Given the description of an element on the screen output the (x, y) to click on. 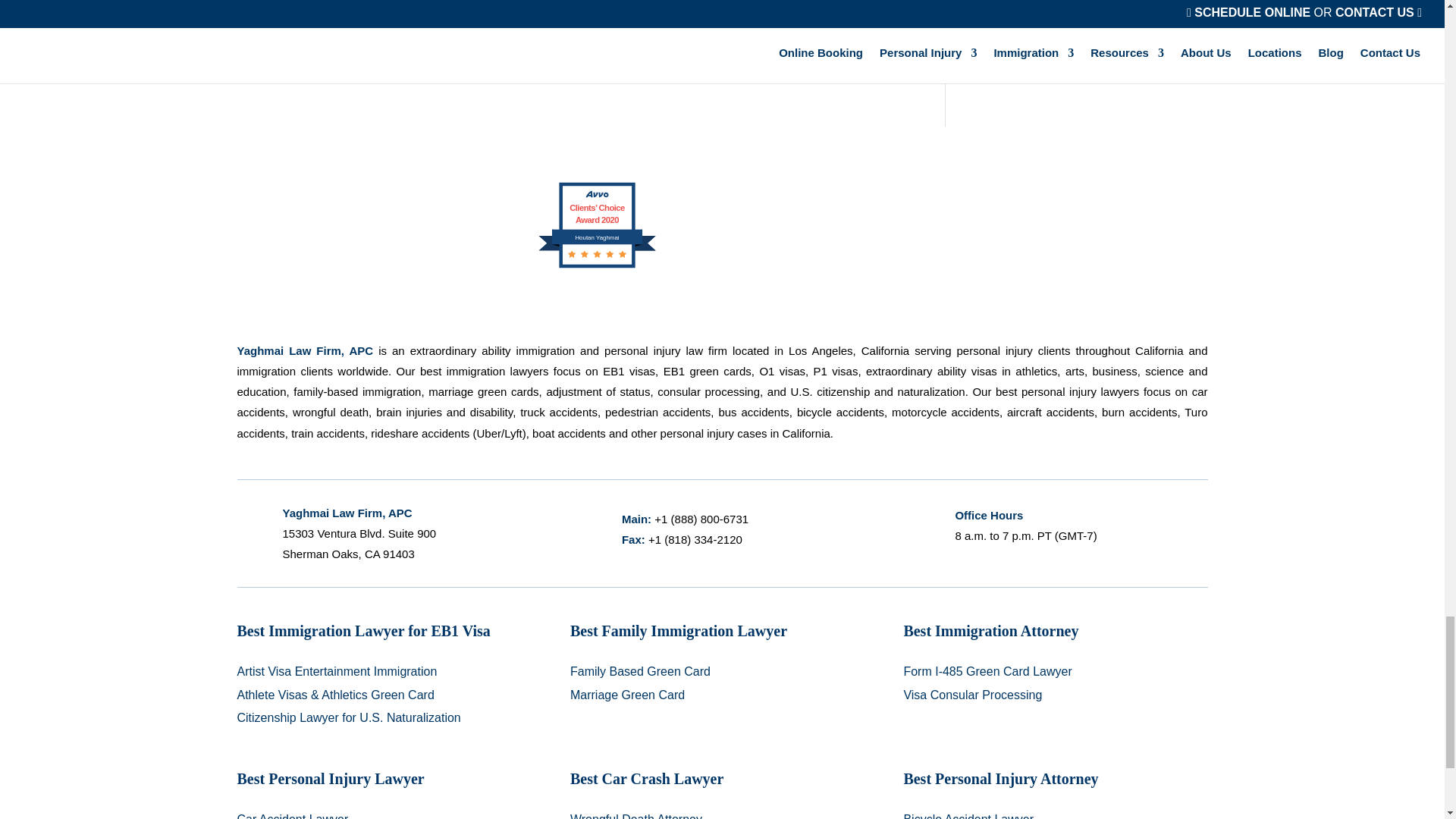
Bicycle Accident Lawyer (967, 816)
Car Accident Lawyer (291, 816)
Attorney Badge (1096, 225)
Wrongful Death Attorney (635, 816)
